Given the description of an element on the screen output the (x, y) to click on. 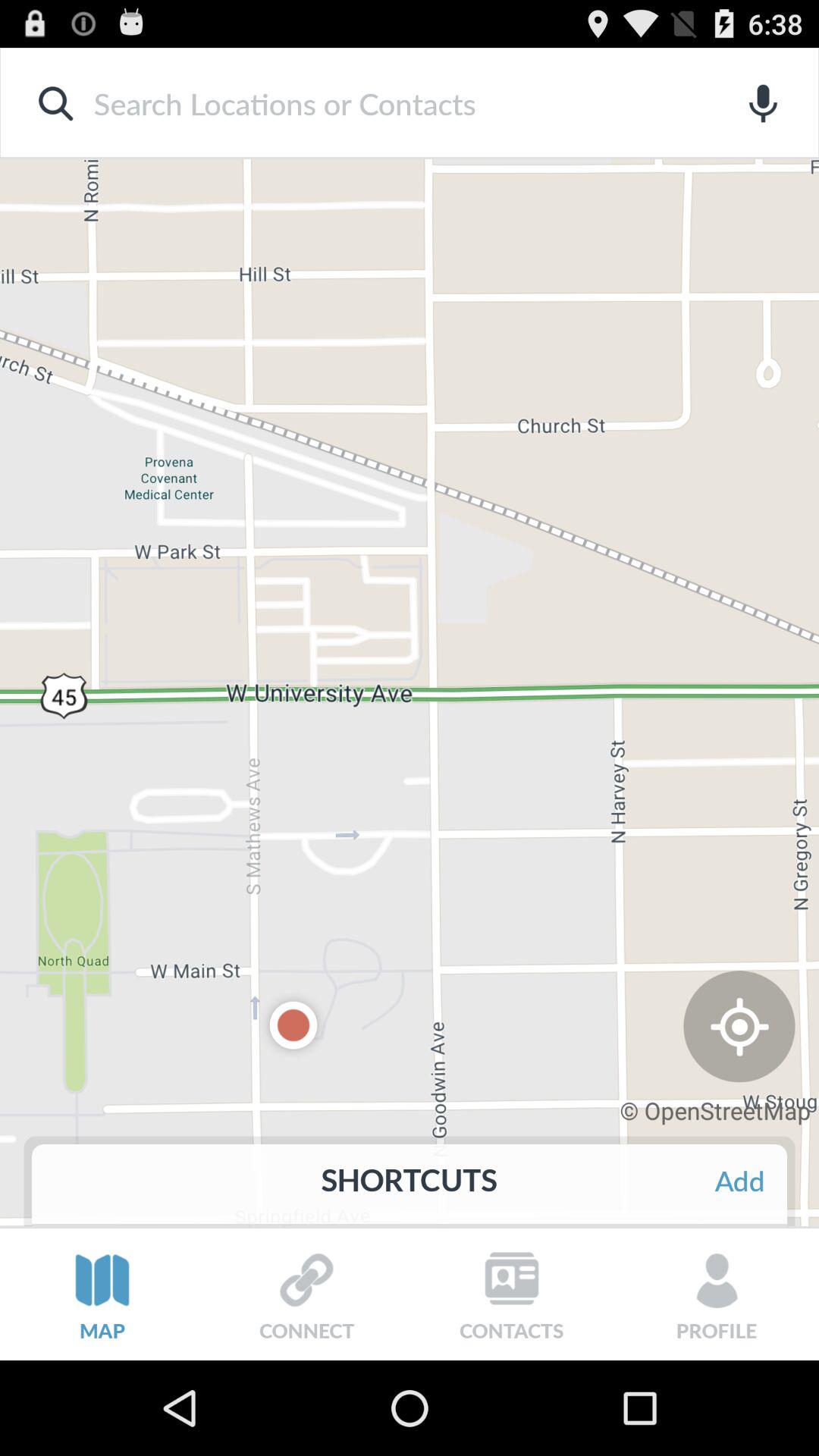
search bar (385, 103)
